Given the description of an element on the screen output the (x, y) to click on. 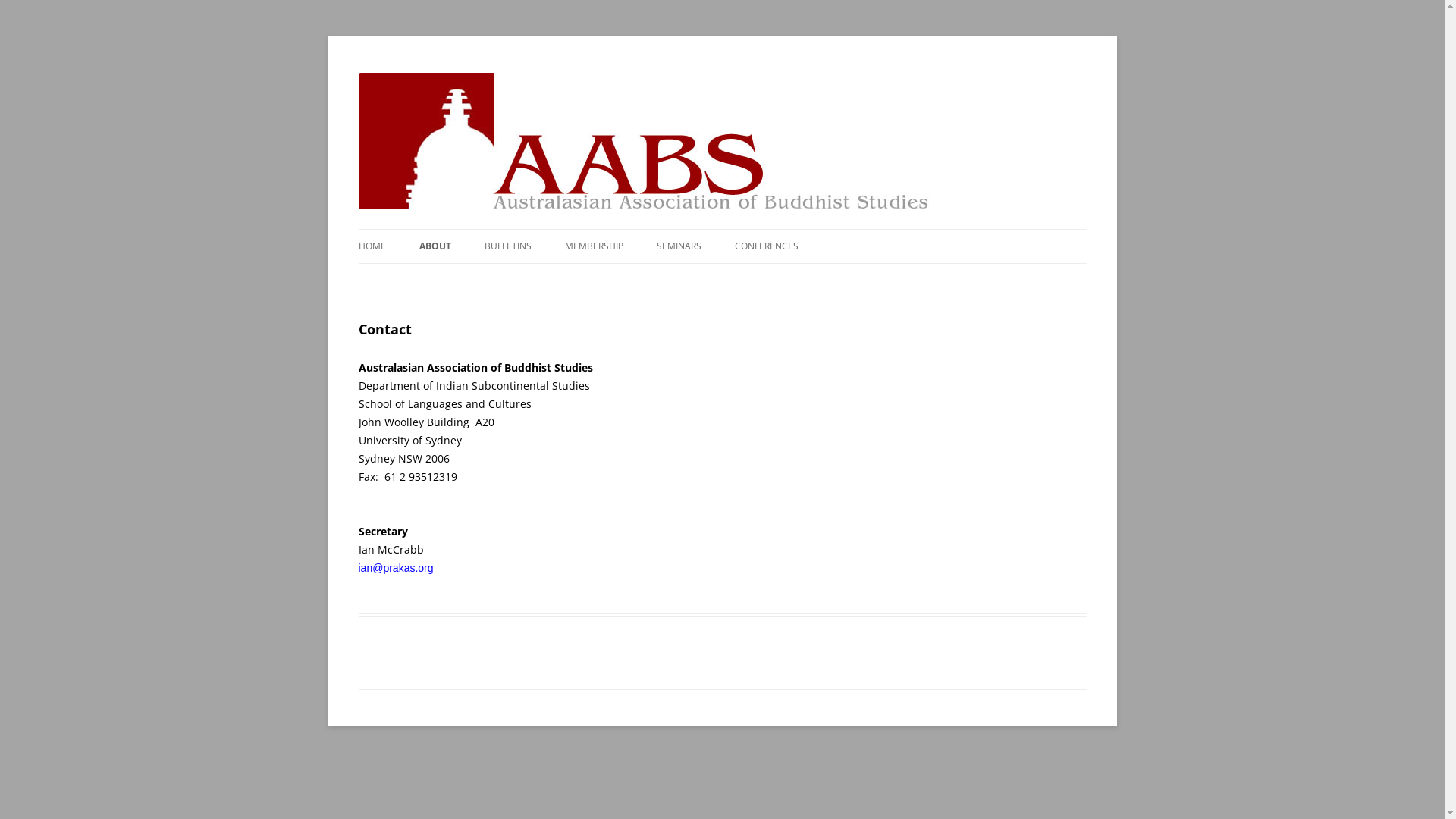
BULLETINS Element type: text (506, 246)
SEMINARS Element type: text (678, 246)
Skip to content Element type: text (721, 229)
CONFERENCES Element type: text (765, 246)
ian@prakas.org Element type: text (395, 567)
AABS Element type: text (382, 72)
ABOUT Element type: text (434, 246)
MEMBERSHIP Element type: text (593, 246)
AIMS Element type: text (494, 278)
HOME Element type: text (371, 246)
